Given the description of an element on the screen output the (x, y) to click on. 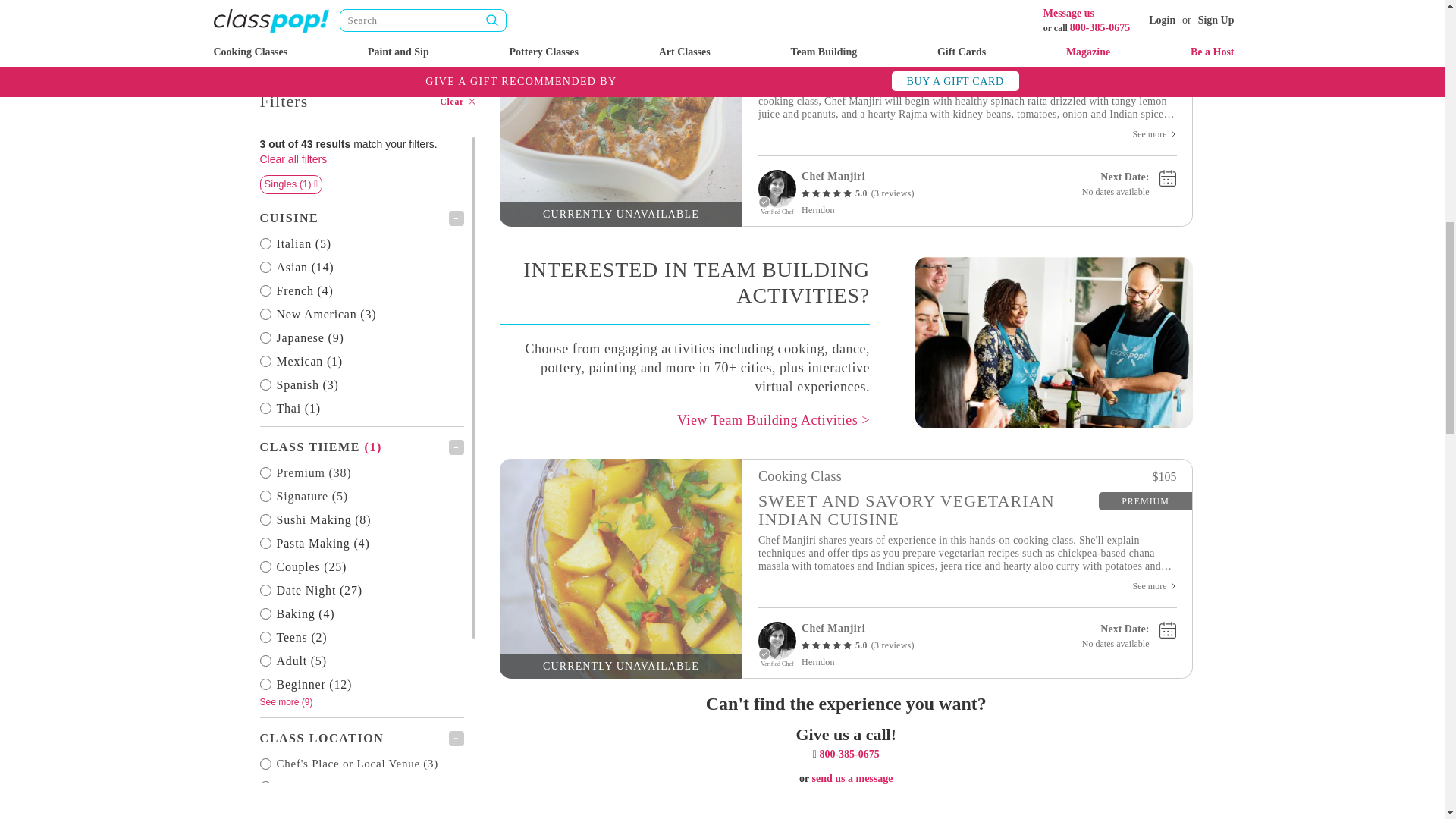
Active classtype (361, 98)
Duration (361, 599)
Rating (361, 558)
Price (361, 476)
Class Location (361, 390)
Date (361, 517)
